Given the description of an element on the screen output the (x, y) to click on. 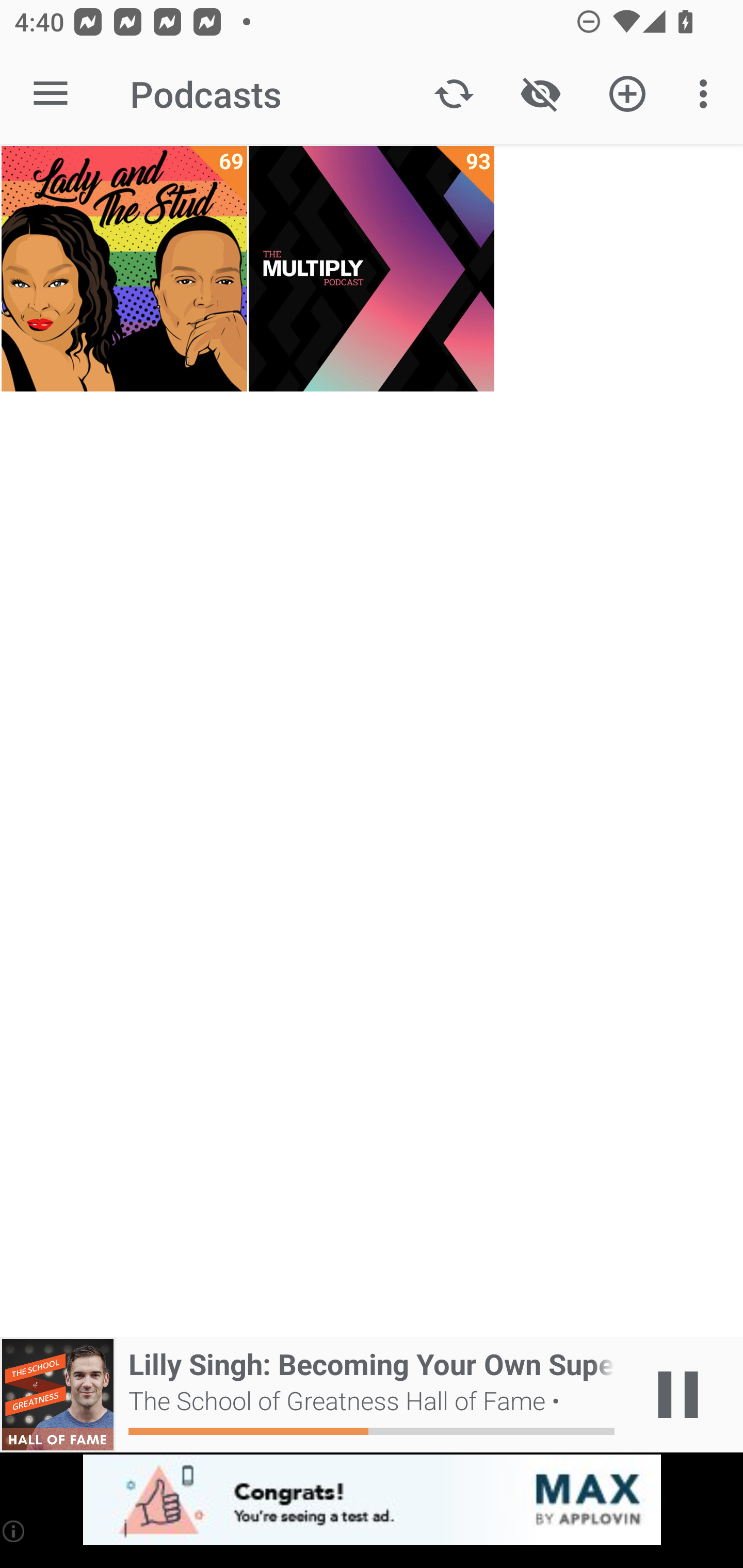
Open navigation sidebar (50, 93)
Update (453, 93)
Show / Hide played content (540, 93)
Add new Podcast (626, 93)
More options (706, 93)
Lady and The Stud 69 (124, 268)
The Multiply Podcast 93 (371, 268)
Play / Pause (677, 1394)
app-monetization (371, 1500)
(i) (14, 1531)
